Given the description of an element on the screen output the (x, y) to click on. 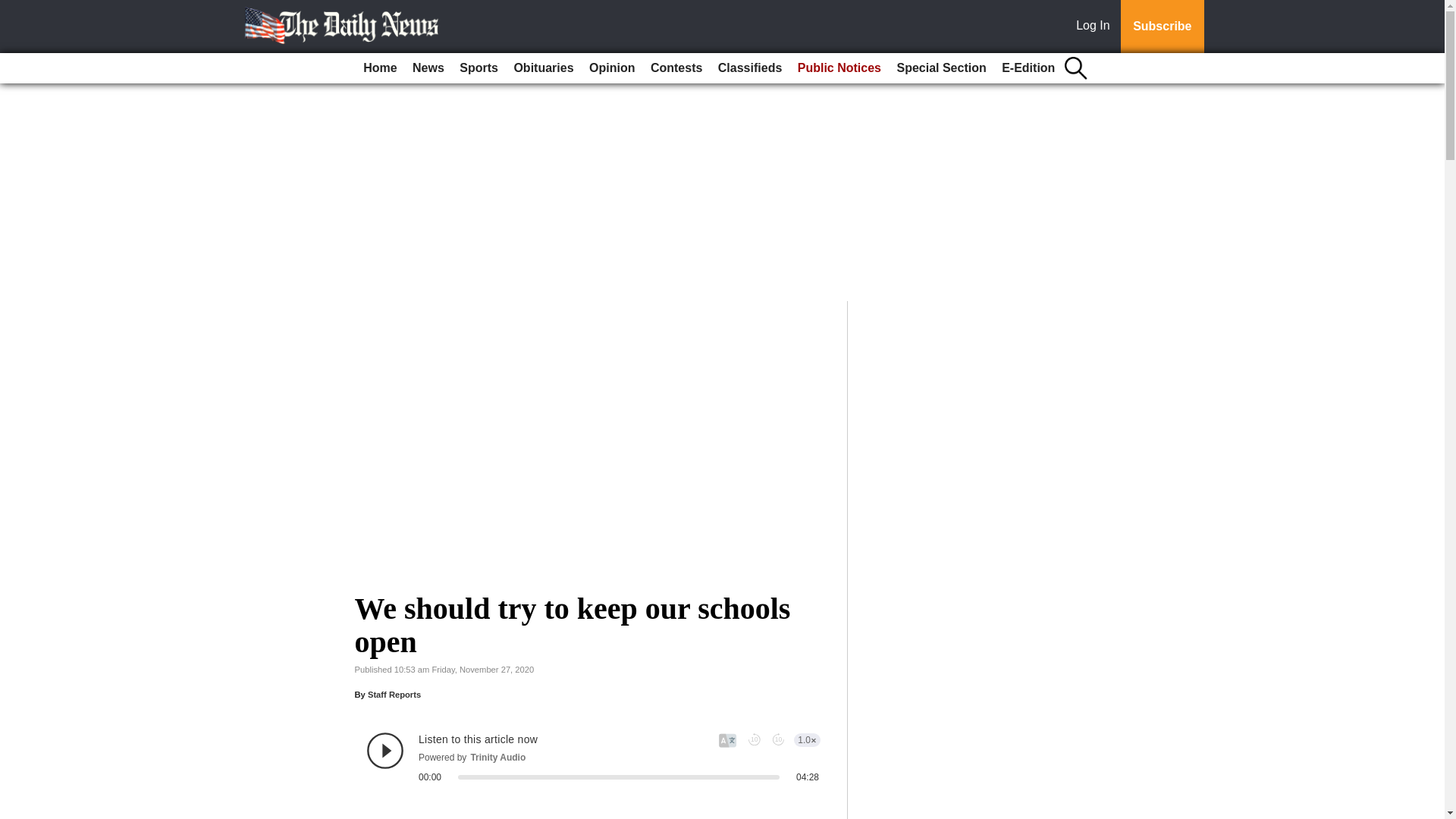
Home (379, 68)
Obituaries (542, 68)
Contests (676, 68)
Staff Reports (394, 694)
Opinion (611, 68)
Classifieds (749, 68)
Public Notices (839, 68)
Log In (1095, 26)
News (427, 68)
E-Edition (1028, 68)
Subscribe (1162, 26)
Go (13, 9)
Trinity Audio Player (592, 757)
Special Section (940, 68)
Sports (477, 68)
